Given the description of an element on the screen output the (x, y) to click on. 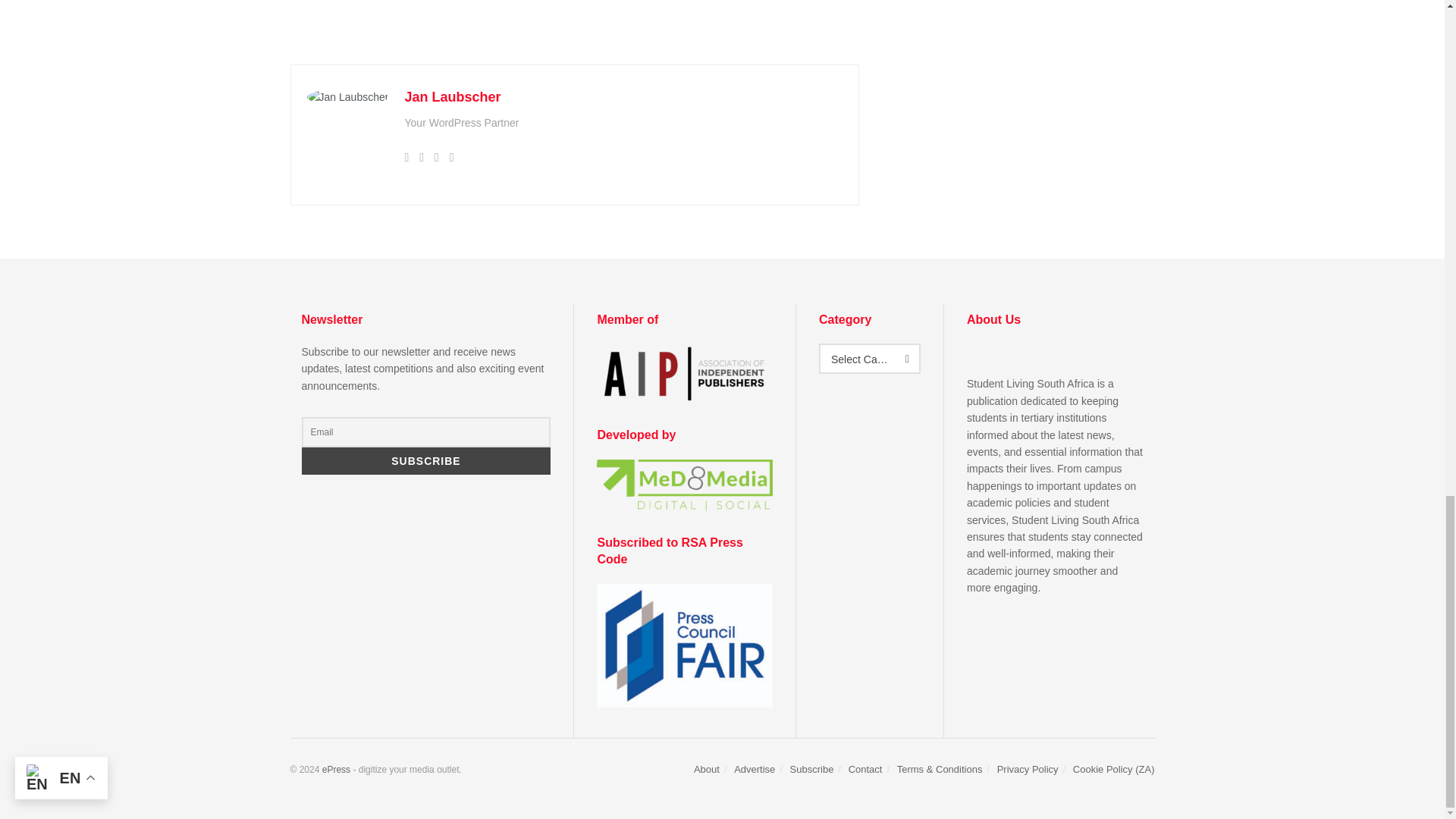
Newspaper portal (335, 769)
Developed by (684, 485)
Subscribe (426, 461)
